Given the description of an element on the screen output the (x, y) to click on. 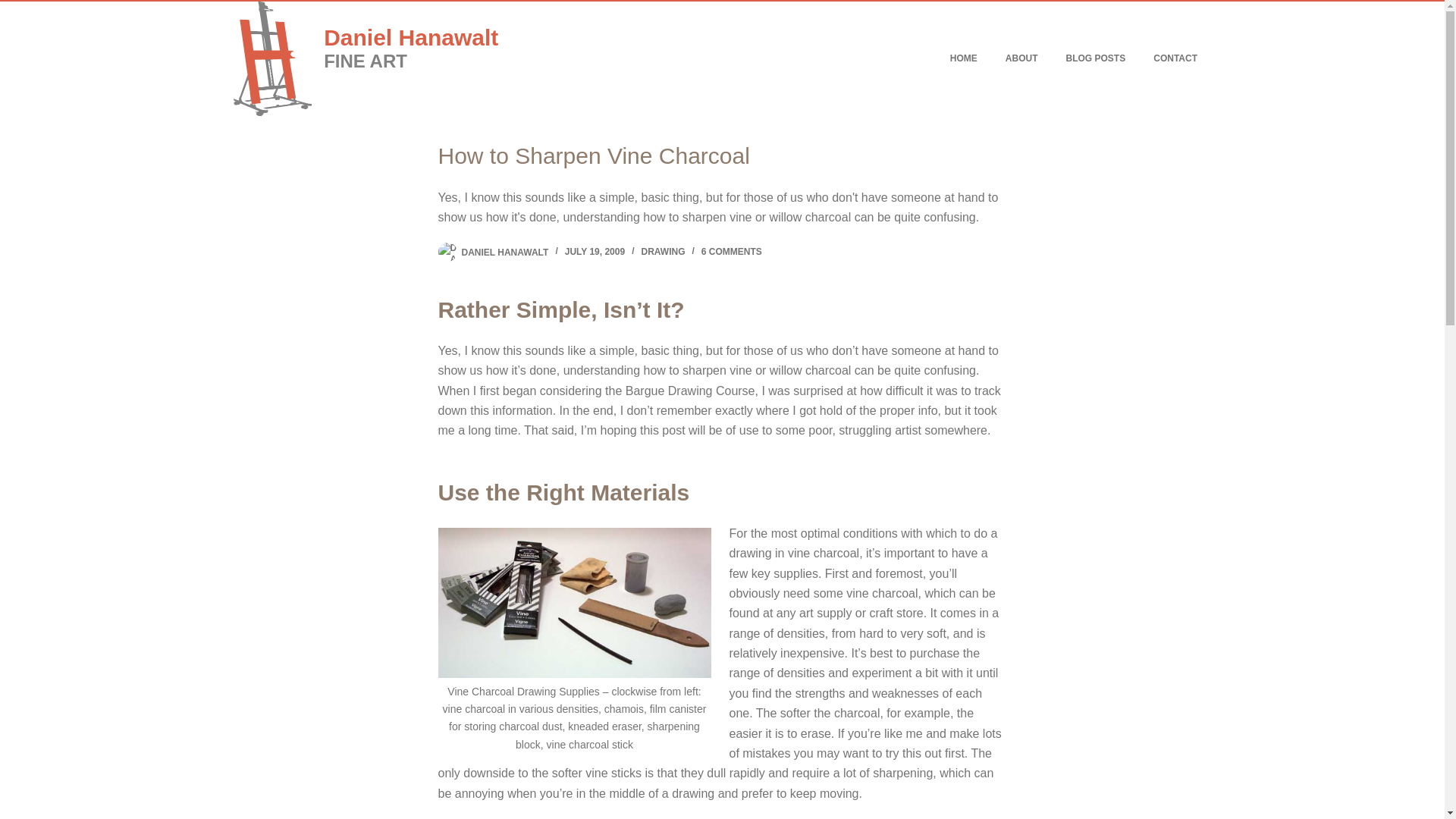
6 COMMENTS (731, 251)
Daniel Hanawalt (410, 37)
DRAWING (662, 251)
Posts by Daniel Hanawalt (504, 251)
INSTAGRAM (1173, 792)
drawing-supplies (574, 602)
BLOG POSTS (1095, 58)
ABOUT (1021, 58)
Skip to content (15, 7)
HOME (963, 58)
